Given the description of an element on the screen output the (x, y) to click on. 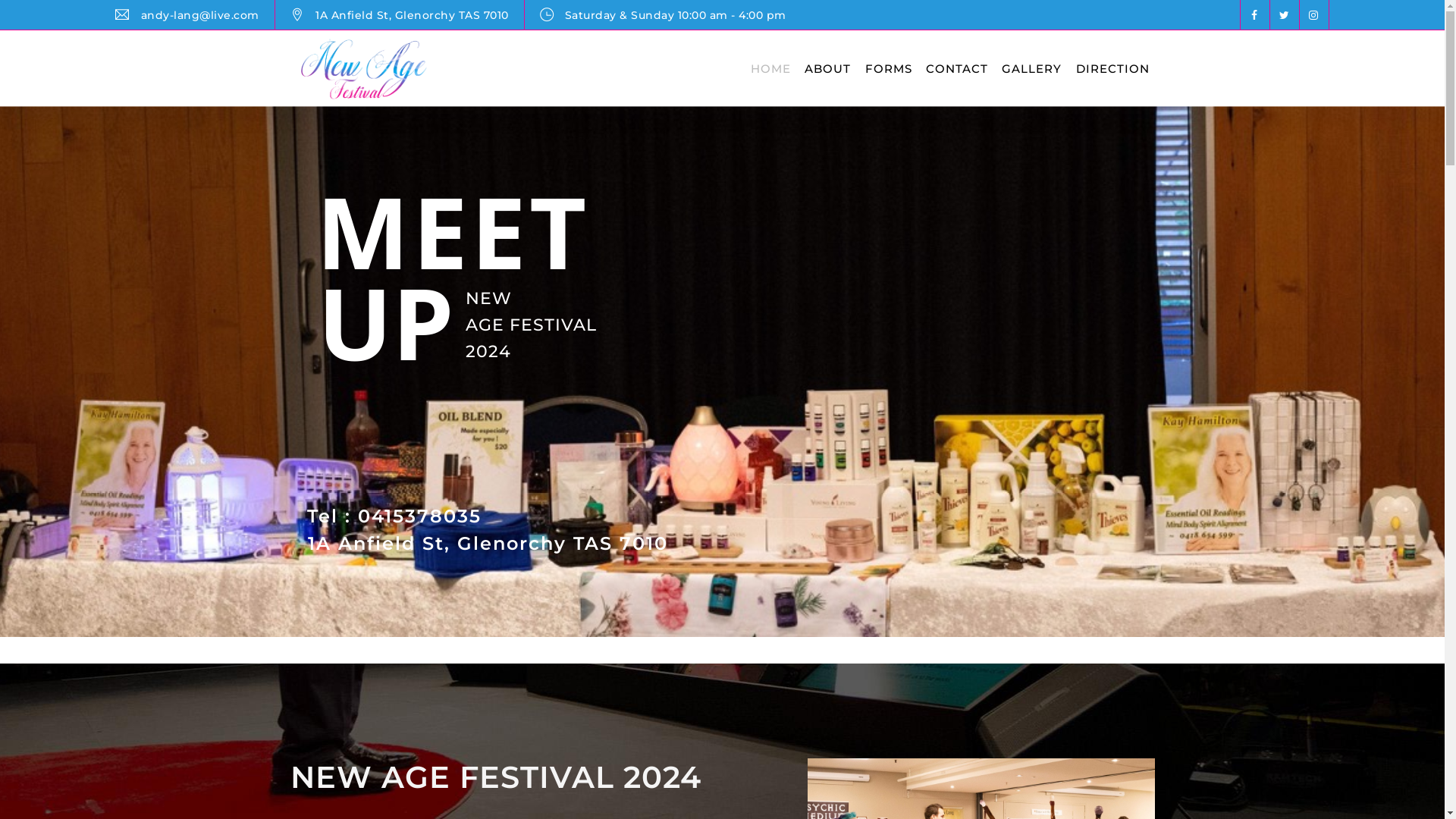
GALLERY Element type: text (1031, 68)
ABOUT Element type: text (827, 68)
FORMS Element type: text (888, 68)
DIRECTION Element type: text (1111, 68)
CONTACT Element type: text (956, 68)
HOME Element type: text (770, 68)
